Given the description of an element on the screen output the (x, y) to click on. 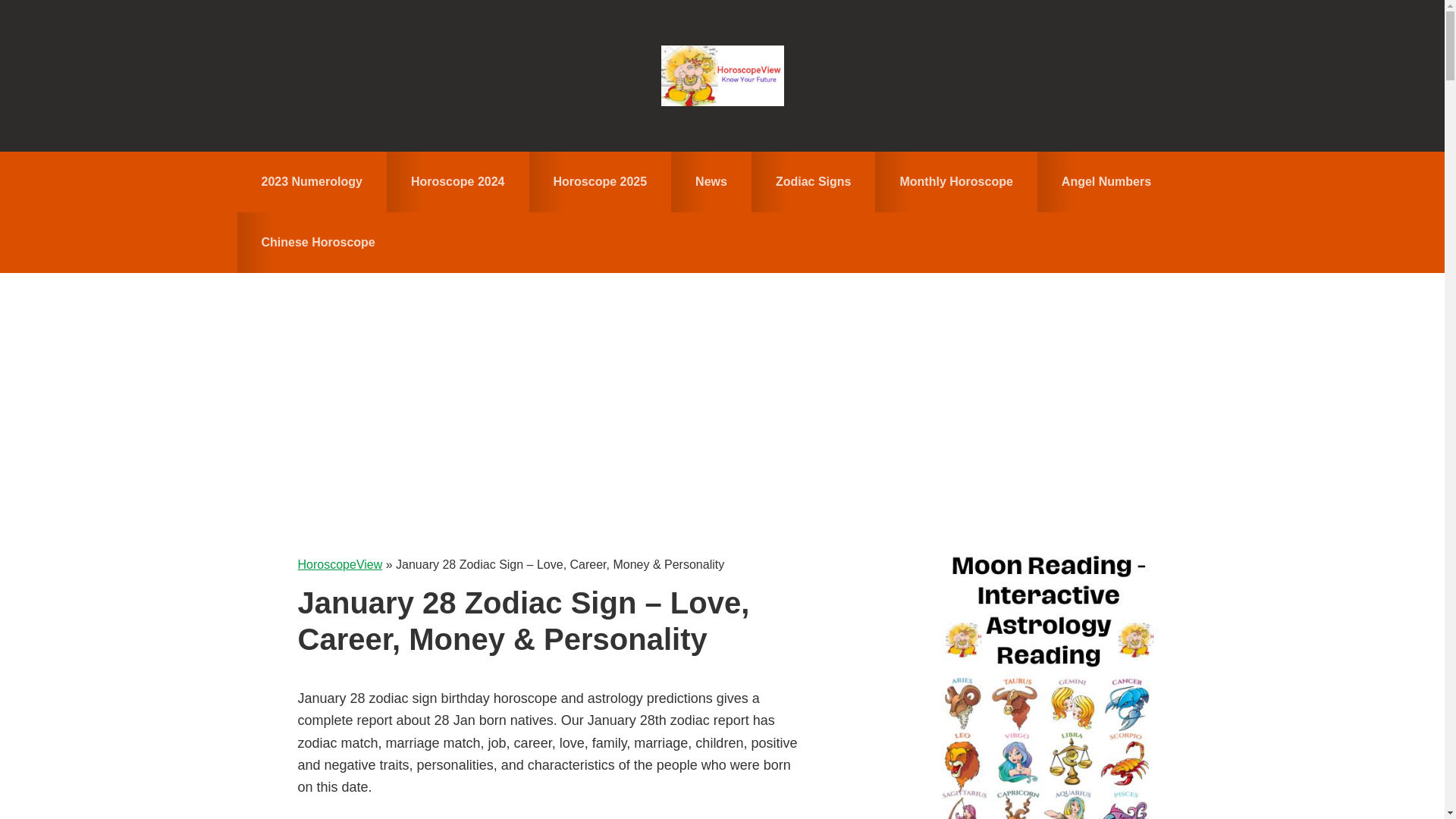
Zodiac Signs (813, 181)
Chinese Horoscope (316, 242)
Horoscope 2025 (600, 181)
HoroscopeView (339, 563)
Angel Numbers (1105, 181)
Monthly Horoscope (955, 181)
HoroscopeView (722, 75)
2023 Numerology (310, 181)
News (711, 181)
Horoscope 2024 (458, 181)
